Given the description of an element on the screen output the (x, y) to click on. 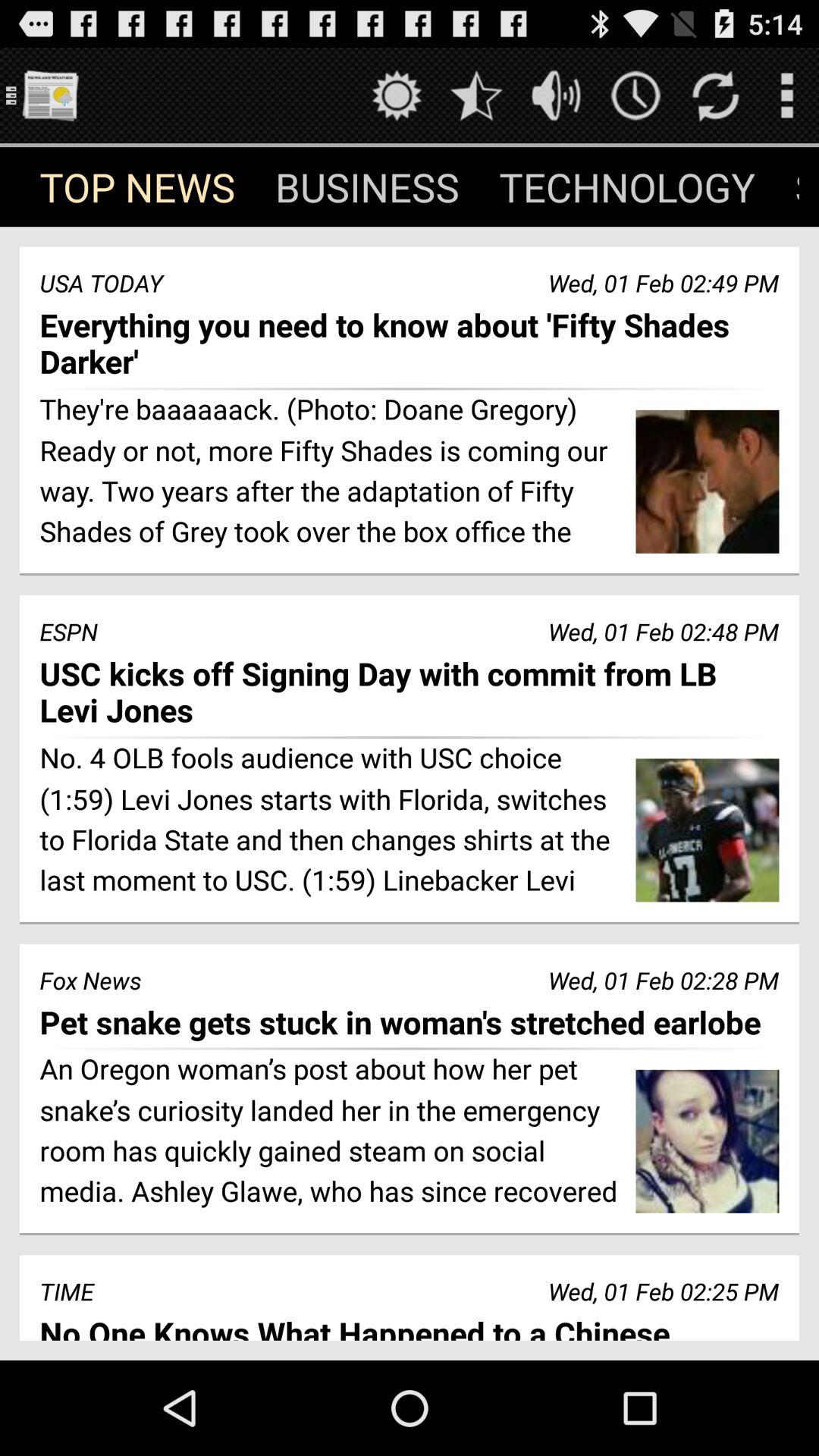
rate this app (476, 95)
